Given the description of an element on the screen output the (x, y) to click on. 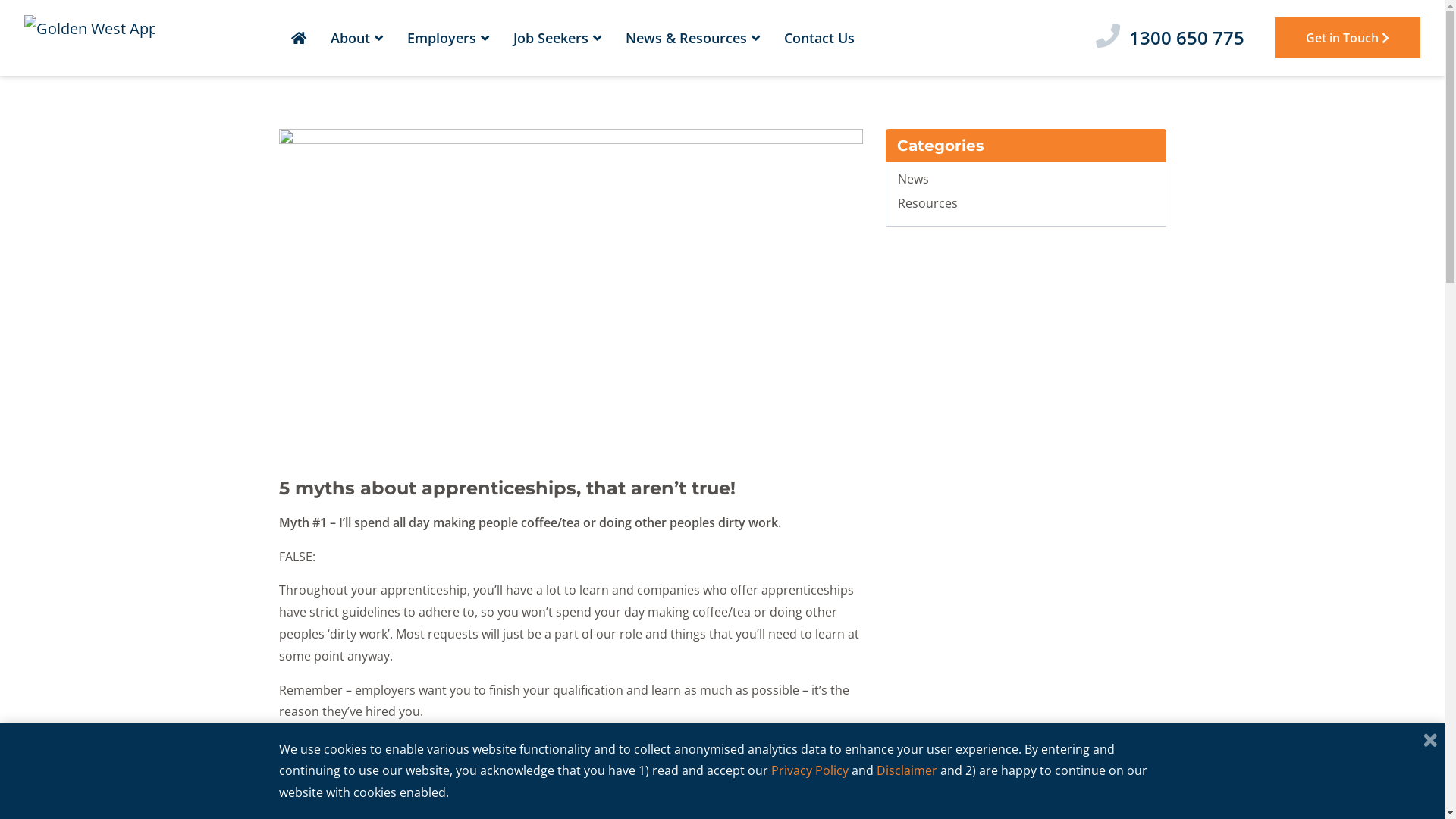
News Element type: text (912, 178)
About Element type: text (356, 37)
Contact Us Element type: text (818, 37)
  1300 650 775 Element type: text (1175, 37)
News & Resources Element type: text (691, 37)
Employers Element type: text (447, 37)
Privacy Policy Element type: text (808, 770)
Resources Element type: text (927, 202)
Disclaimer Element type: text (906, 770)
Get in Touch Element type: text (1347, 38)
Job Seekers Element type: text (556, 37)
